Given the description of an element on the screen output the (x, y) to click on. 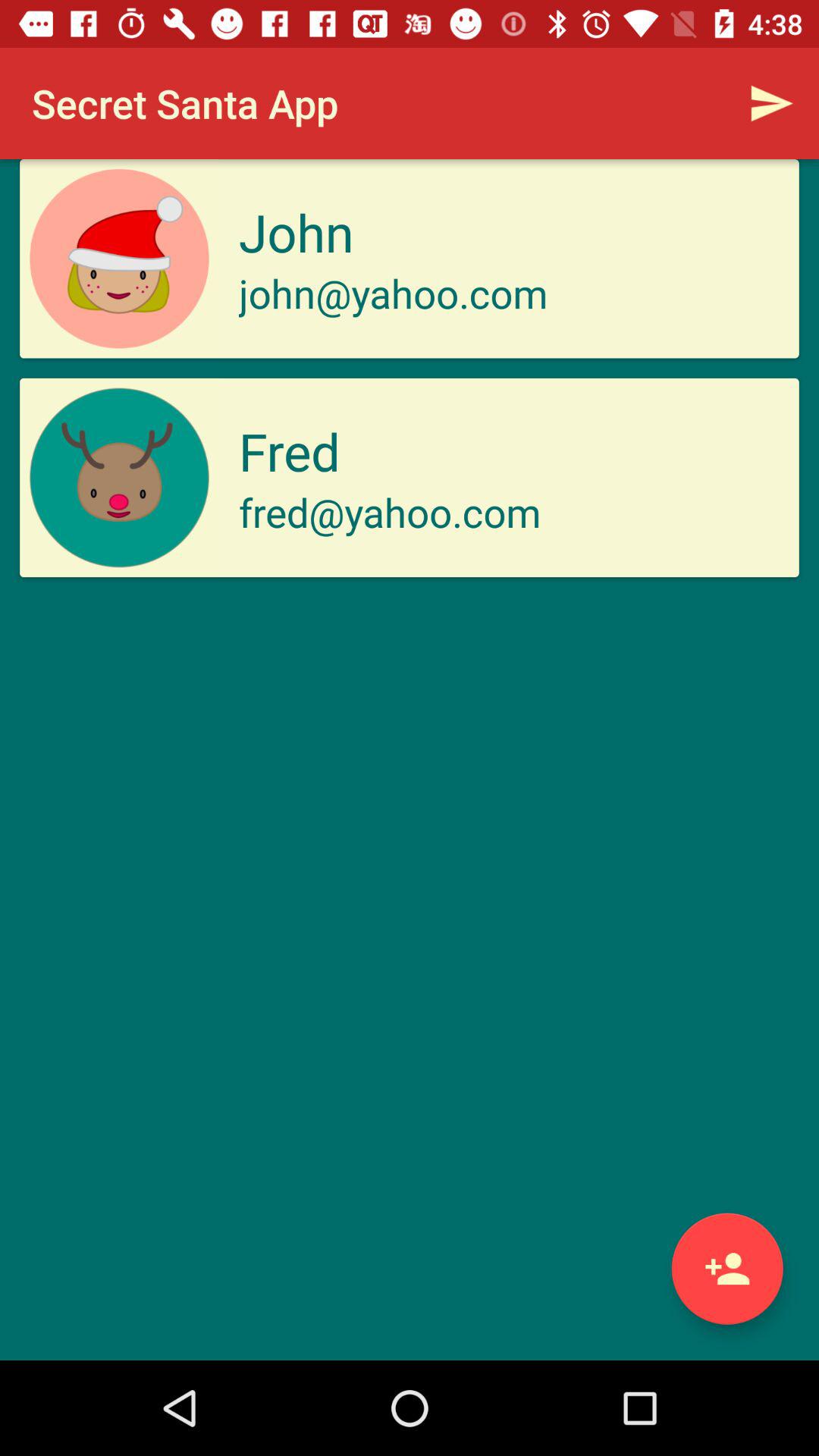
open the icon below fred@yahoo.com icon (727, 1268)
